Given the description of an element on the screen output the (x, y) to click on. 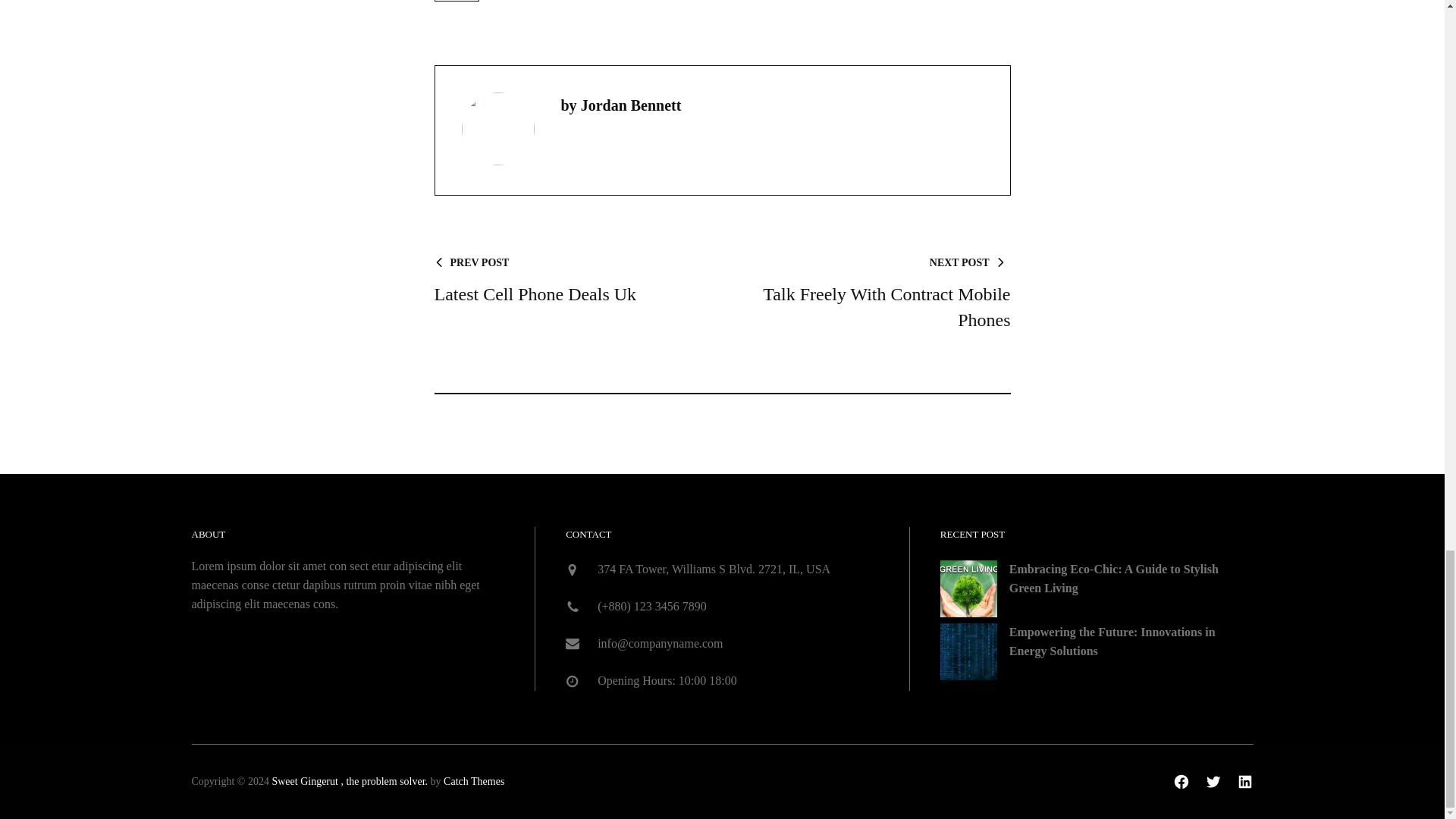
Catch Themes (473, 781)
Sweet Gingerut , the problem solver. (349, 781)
Opening Hours: 10:00 18:00 (881, 293)
374 FA Tower, Williams S Blvd. 2721, IL, USA (666, 680)
daily (712, 568)
Embracing Eco-Chic: A Guide to Stylish Green Living (456, 0)
Facebook (1113, 578)
Twitter (1180, 781)
LinkedIn (1212, 781)
Empowering the Future: Innovations in Energy Solutions (562, 280)
